Given the description of an element on the screen output the (x, y) to click on. 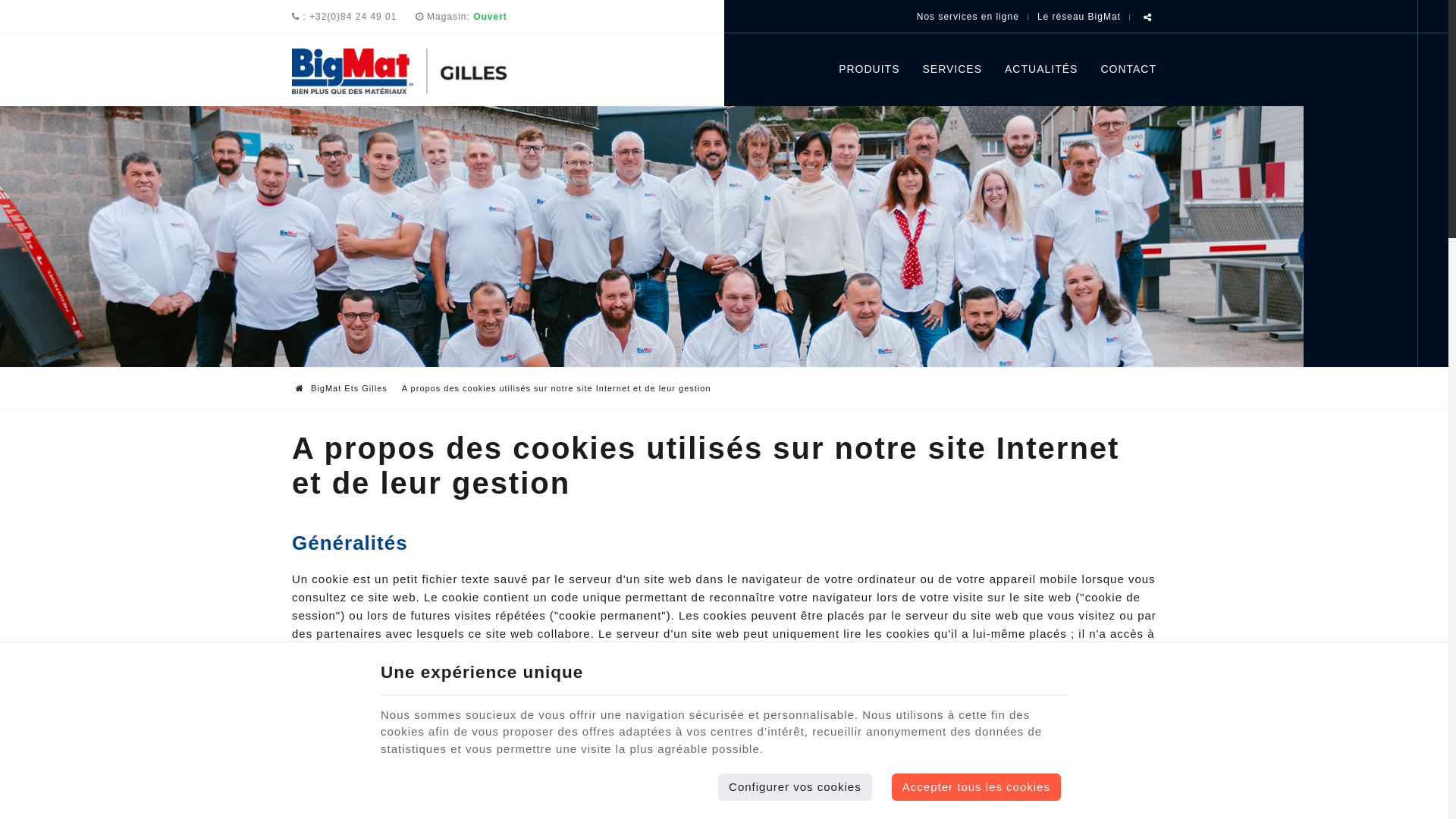
BigMat Ets Gilles Element type: hover (419, 71)
Magasin:
Ouvert Element type: text (466, 16)
Nos services en ligne Element type: text (967, 16)
PRODUITS Element type: text (868, 68)
Accepter tous les cookies Element type: text (975, 786)
SERVICES Element type: text (951, 68)
CONTACT Element type: text (1122, 68)
Configurer vos cookies Element type: text (795, 786)
: +32(0)84 24 49 01 Element type: text (343, 16)
BigMat Ets Gilles Element type: text (341, 387)
Partager ce contenu Element type: text (1147, 17)
